Given the description of an element on the screen output the (x, y) to click on. 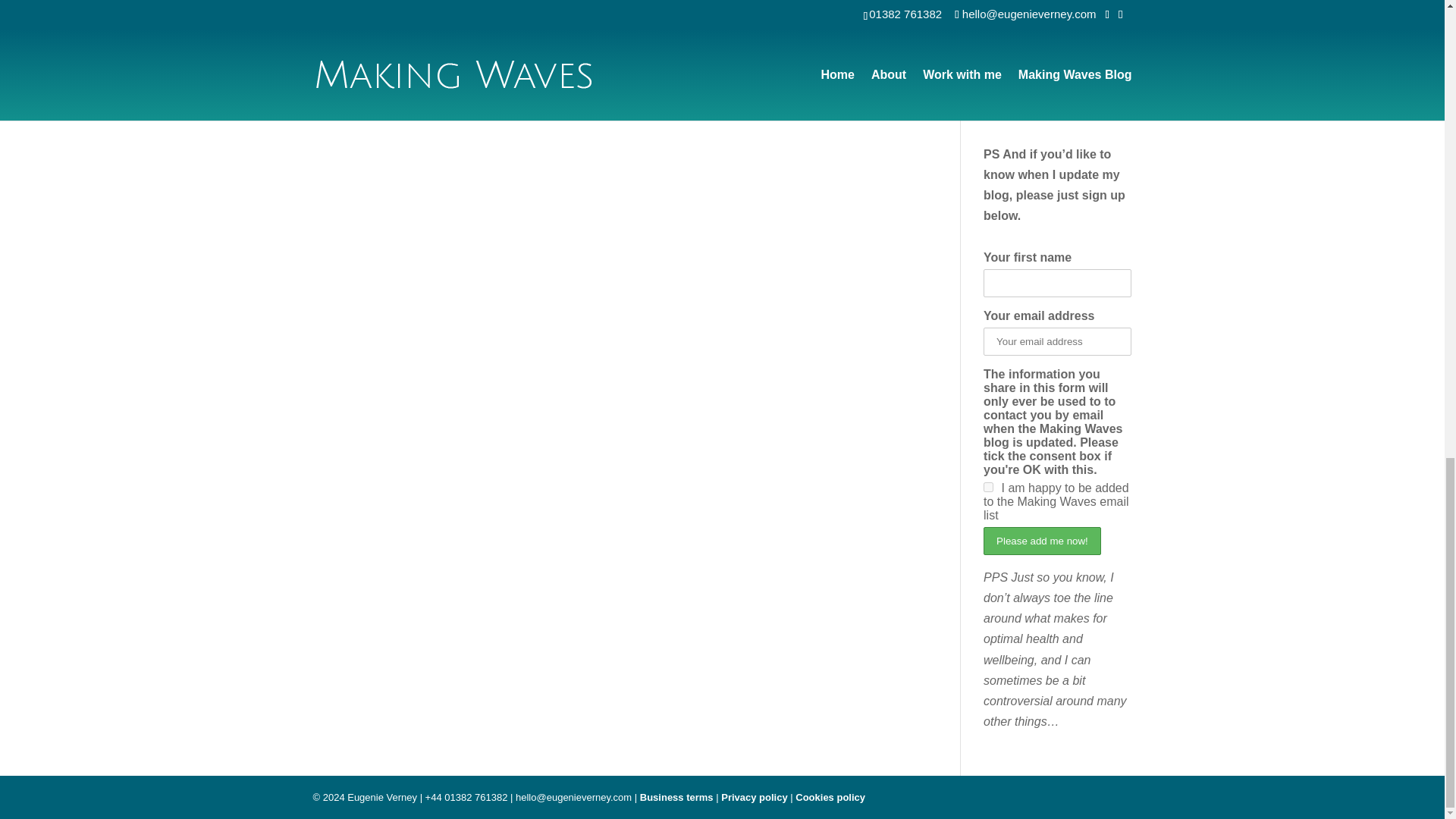
Please add me now! (1042, 541)
Privacy policy (753, 797)
Business terms (676, 797)
Please add me now! (1042, 541)
4c7f6ba955 (988, 487)
Cookies policy (829, 797)
